Given the description of an element on the screen output the (x, y) to click on. 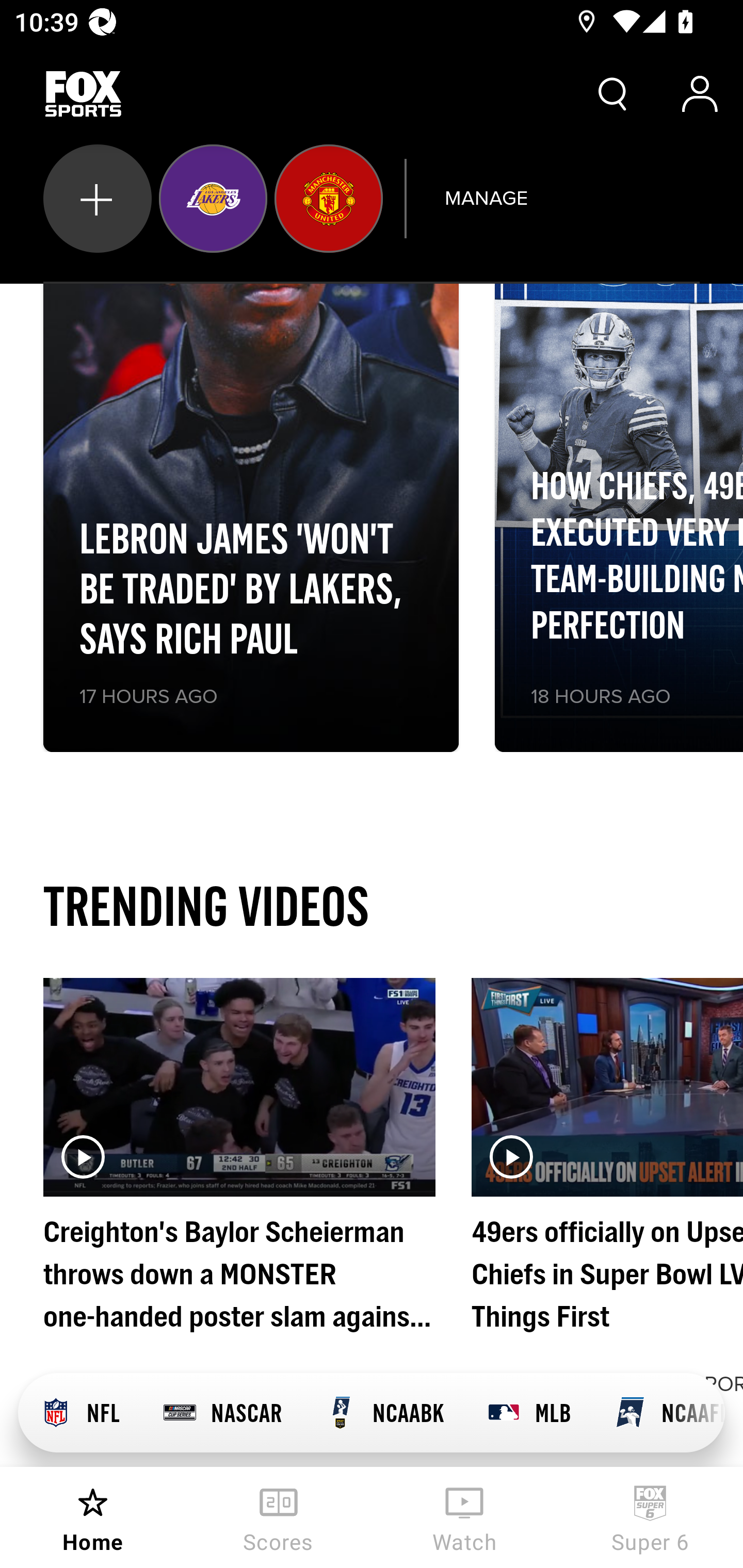
Search (612, 93)
Account (699, 93)
MANAGE (485, 198)
NFL (79, 1412)
NASCAR (222, 1412)
NCAABK (384, 1412)
MLB (528, 1412)
NCAAFB (658, 1412)
Scores (278, 1517)
Watch (464, 1517)
Super 6 (650, 1517)
